Given the description of an element on the screen output the (x, y) to click on. 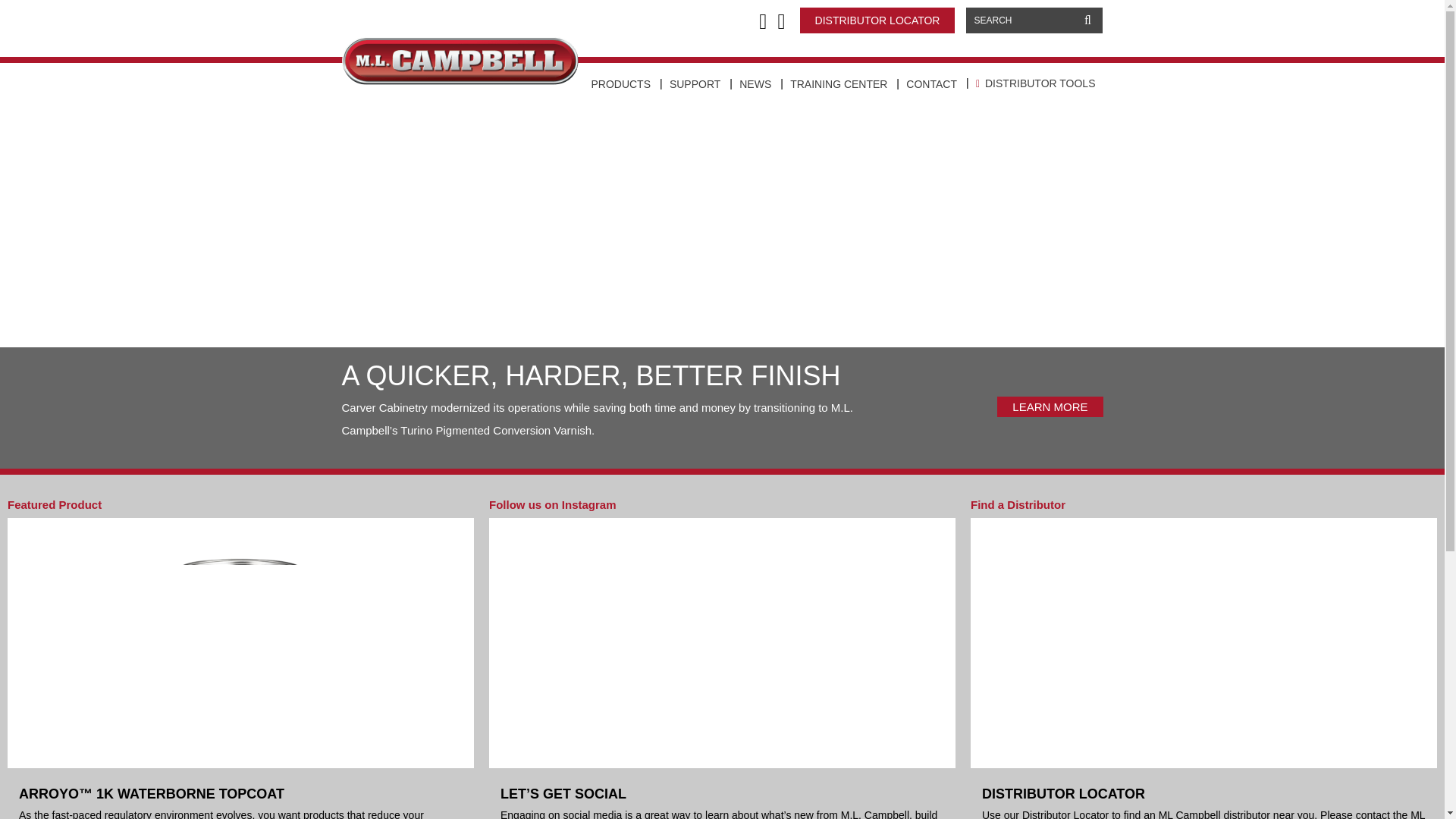
DISTRIBUTOR LOCATOR (877, 20)
LEARN MORE (1049, 406)
Search (1086, 20)
Search (1086, 20)
CONTACT (931, 83)
NEWS (755, 83)
DISTRIBUTOR TOOLS (1035, 83)
TRAINING CENTER (839, 83)
For Distributors of M.L. Campbell and Sayerlack products (1035, 83)
SUPPORT (695, 83)
Search (1086, 20)
PRODUCTS (621, 83)
